Given the description of an element on the screen output the (x, y) to click on. 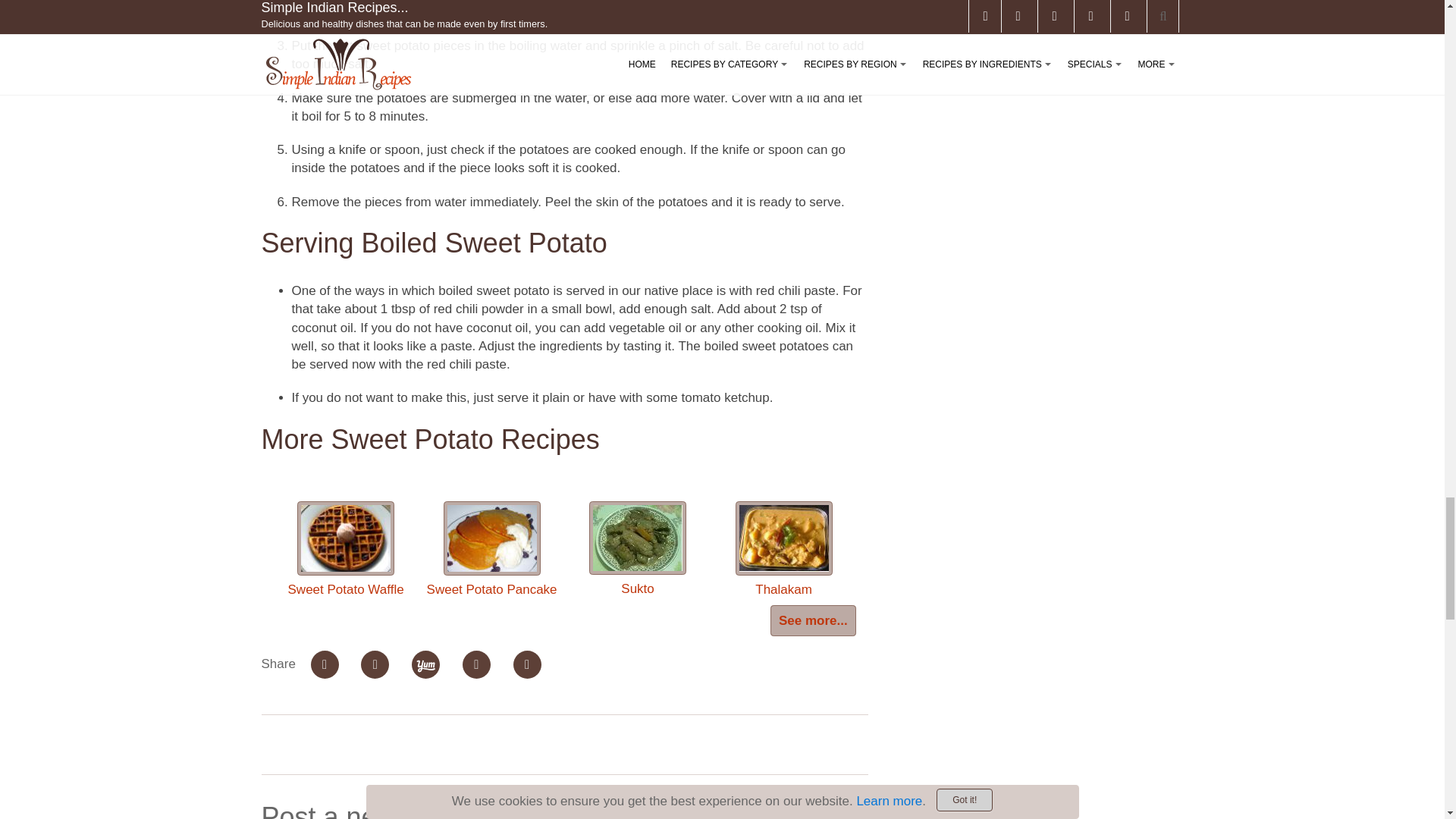
Email (476, 664)
Share on Yummly (425, 664)
Share on Facebook (325, 664)
Print (527, 664)
Share on Twitter (374, 664)
